Given the description of an element on the screen output the (x, y) to click on. 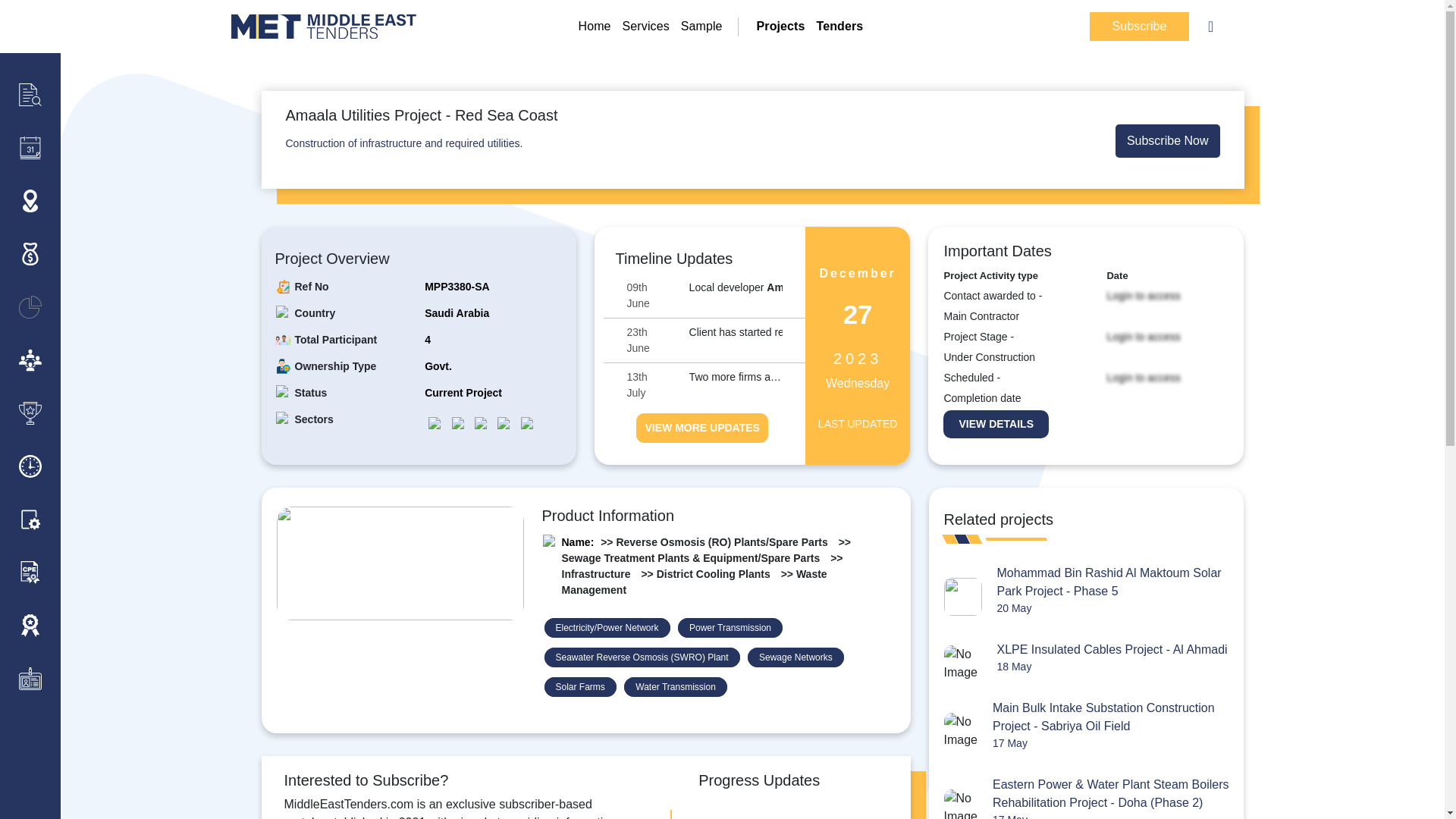
Construction of infrastructure and required utilities. (657, 385)
Home (657, 296)
file-settings-solid (657, 340)
Tenders (403, 143)
Services (593, 26)
Water Works (30, 519)
file-settings-solid (839, 26)
Subscribe (645, 26)
Sample (457, 421)
Subscribe Now (30, 518)
Projects (1139, 26)
